Given the description of an element on the screen output the (x, y) to click on. 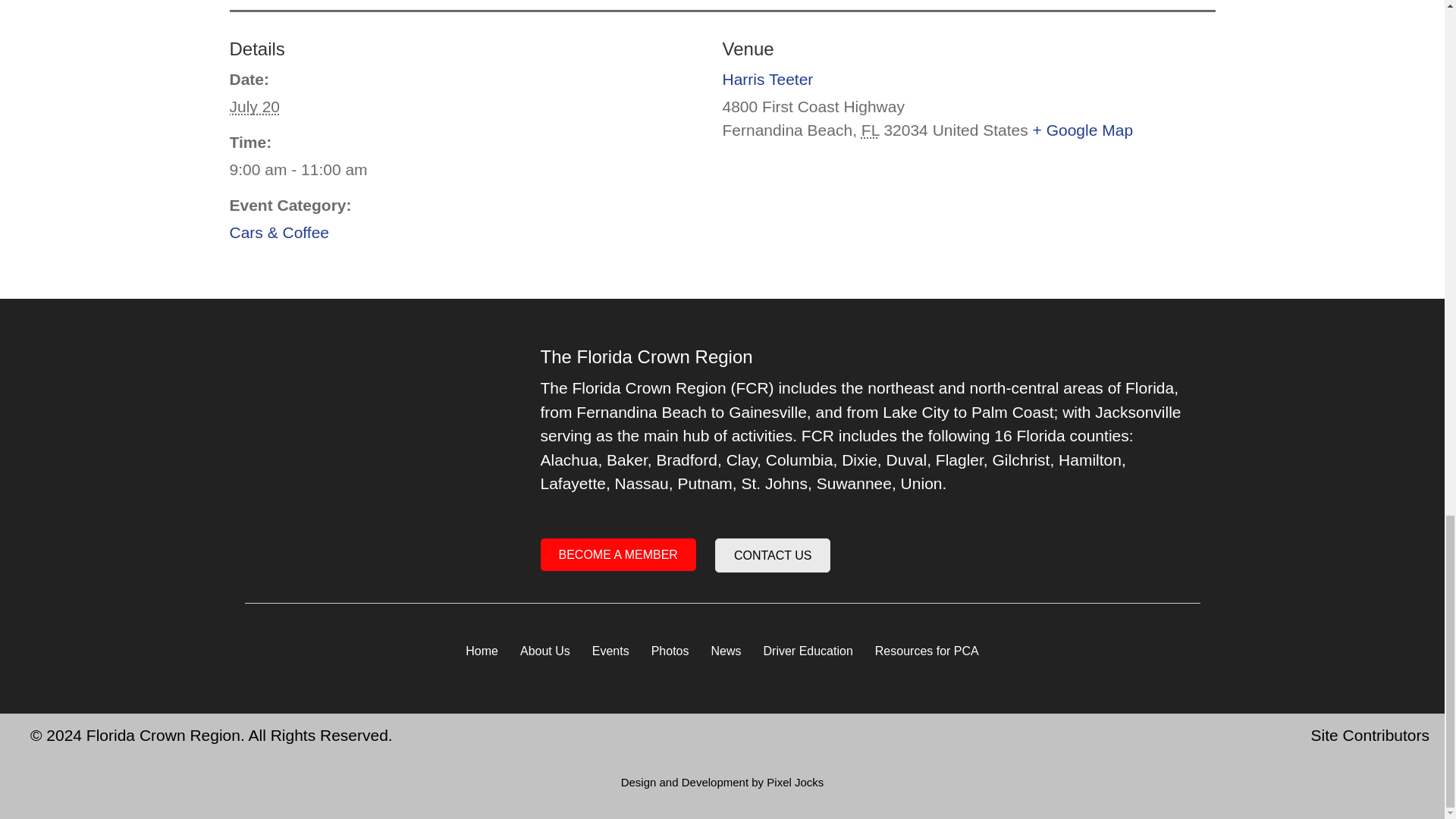
2024-07-20 (465, 169)
Porsche Club of America (376, 437)
Harris Teeter (767, 78)
2024-07-20 (253, 106)
BECOME A MEMBER (617, 554)
Click to view a Google Map (1083, 129)
CONTACT US (772, 555)
Florida (870, 129)
